Given the description of an element on the screen output the (x, y) to click on. 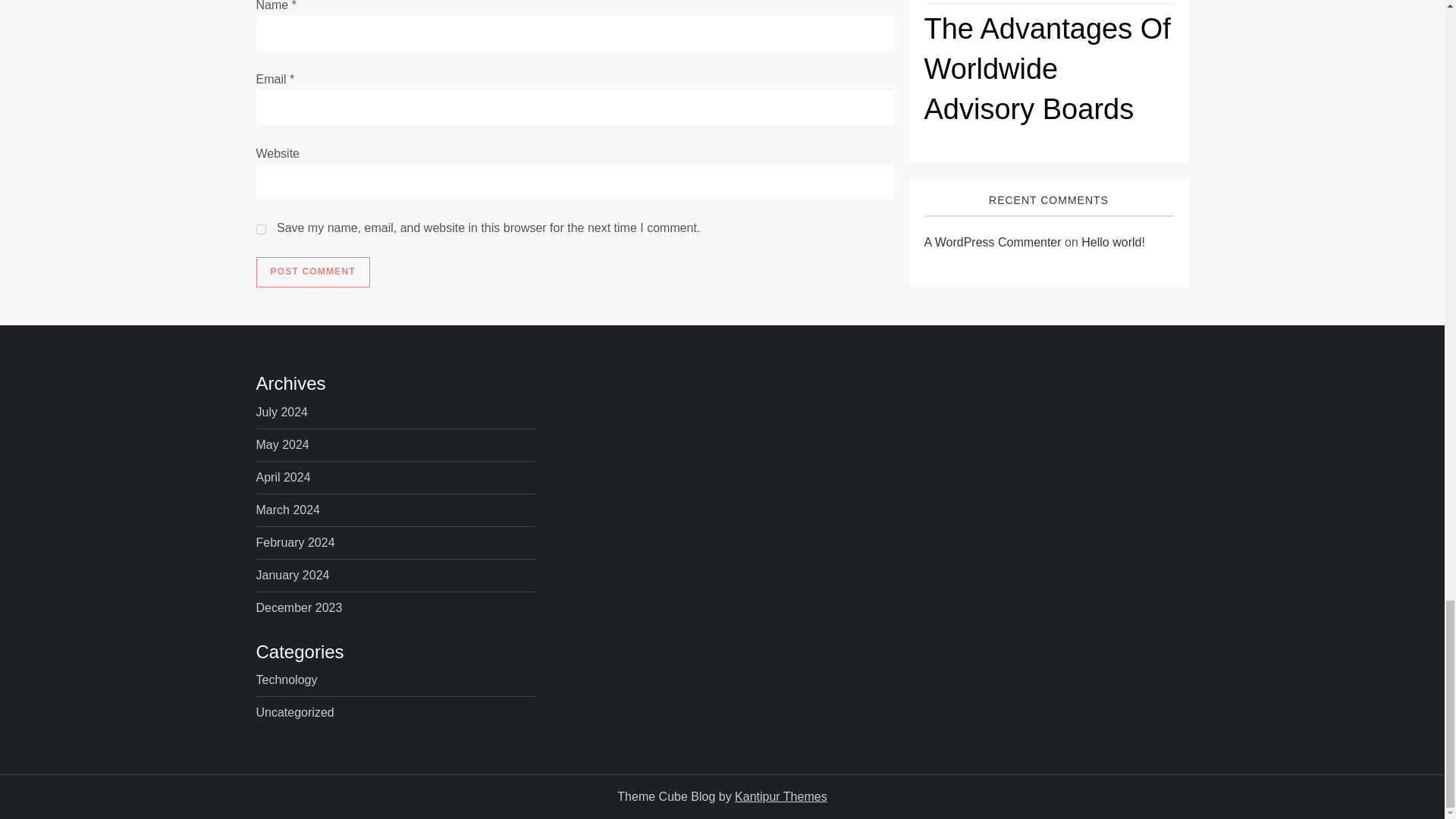
May 2024 (282, 444)
yes (261, 229)
Technology (286, 680)
March 2024 (288, 509)
Post Comment (312, 272)
Uncategorized (295, 712)
April 2024 (283, 477)
Kantipur Themes (781, 796)
December 2023 (299, 608)
July 2024 (282, 412)
February 2024 (295, 542)
January 2024 (293, 575)
Post Comment (312, 272)
